Given the description of an element on the screen output the (x, y) to click on. 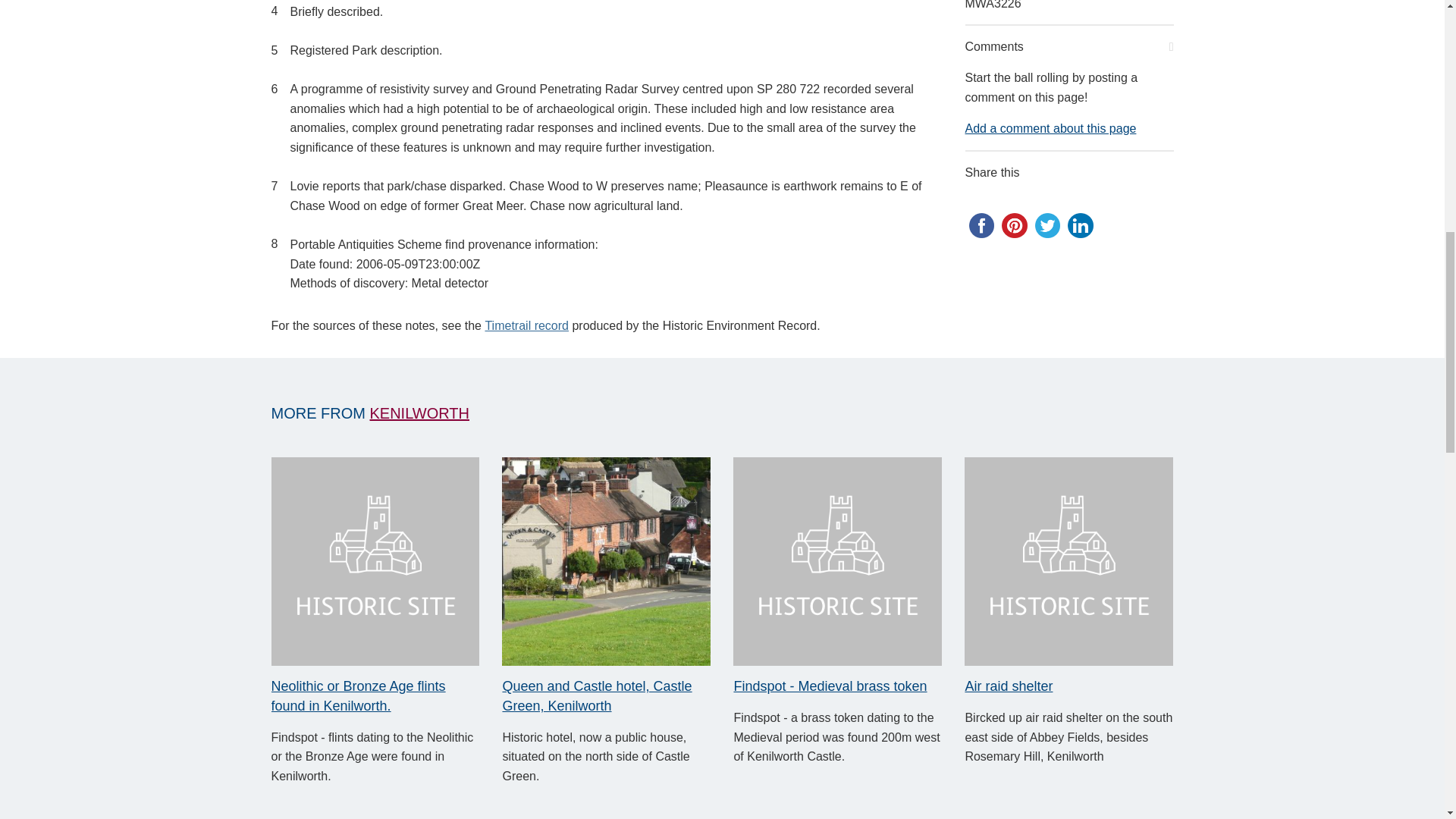
Timetrail record (526, 325)
Pinterest (1014, 225)
Twitter (1046, 225)
Facebook (981, 225)
LinkedIn (1080, 225)
